Given the description of an element on the screen output the (x, y) to click on. 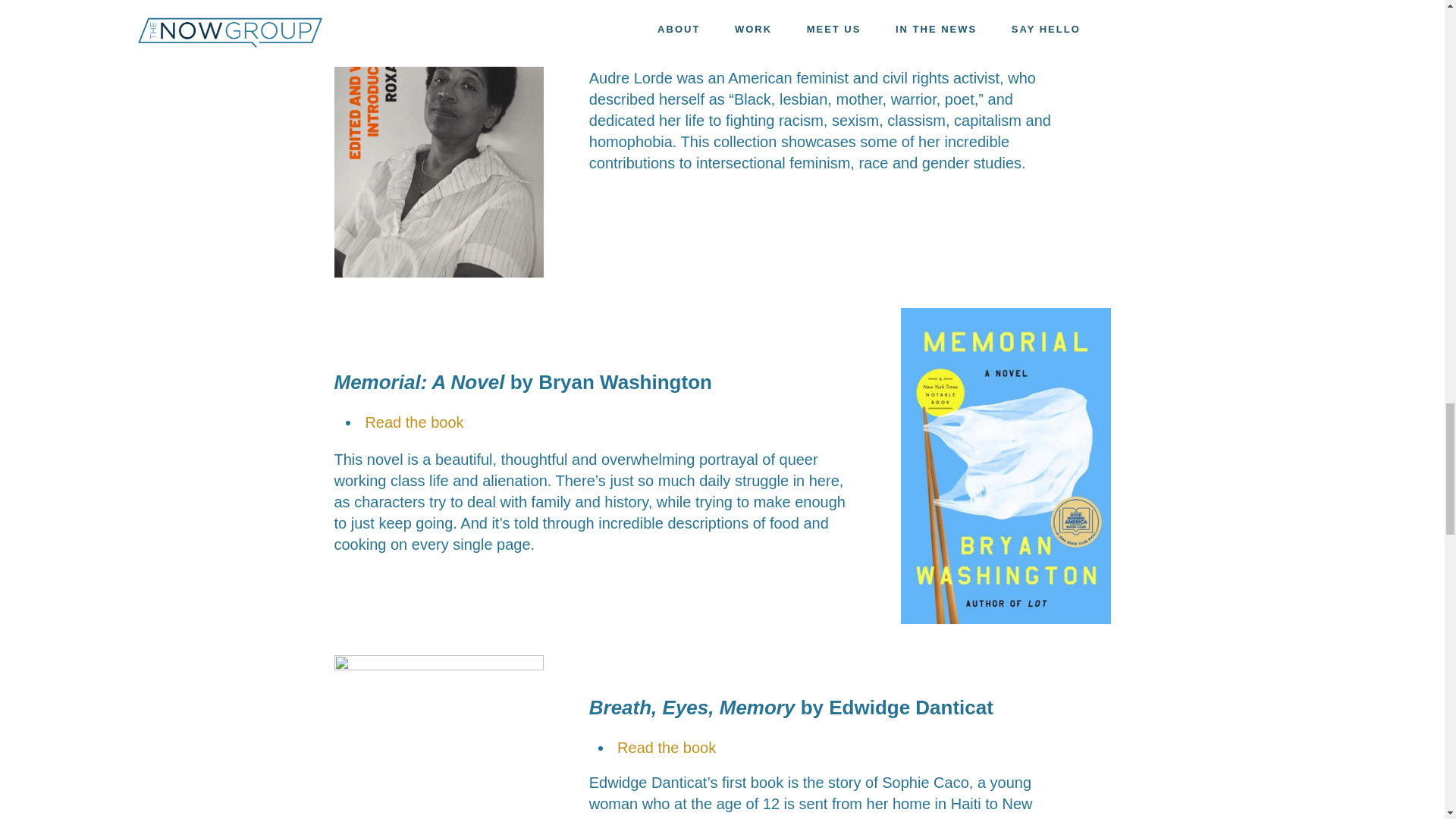
Read the book (666, 747)
Read the book (414, 422)
Read the book (666, 42)
